Given the description of an element on the screen output the (x, y) to click on. 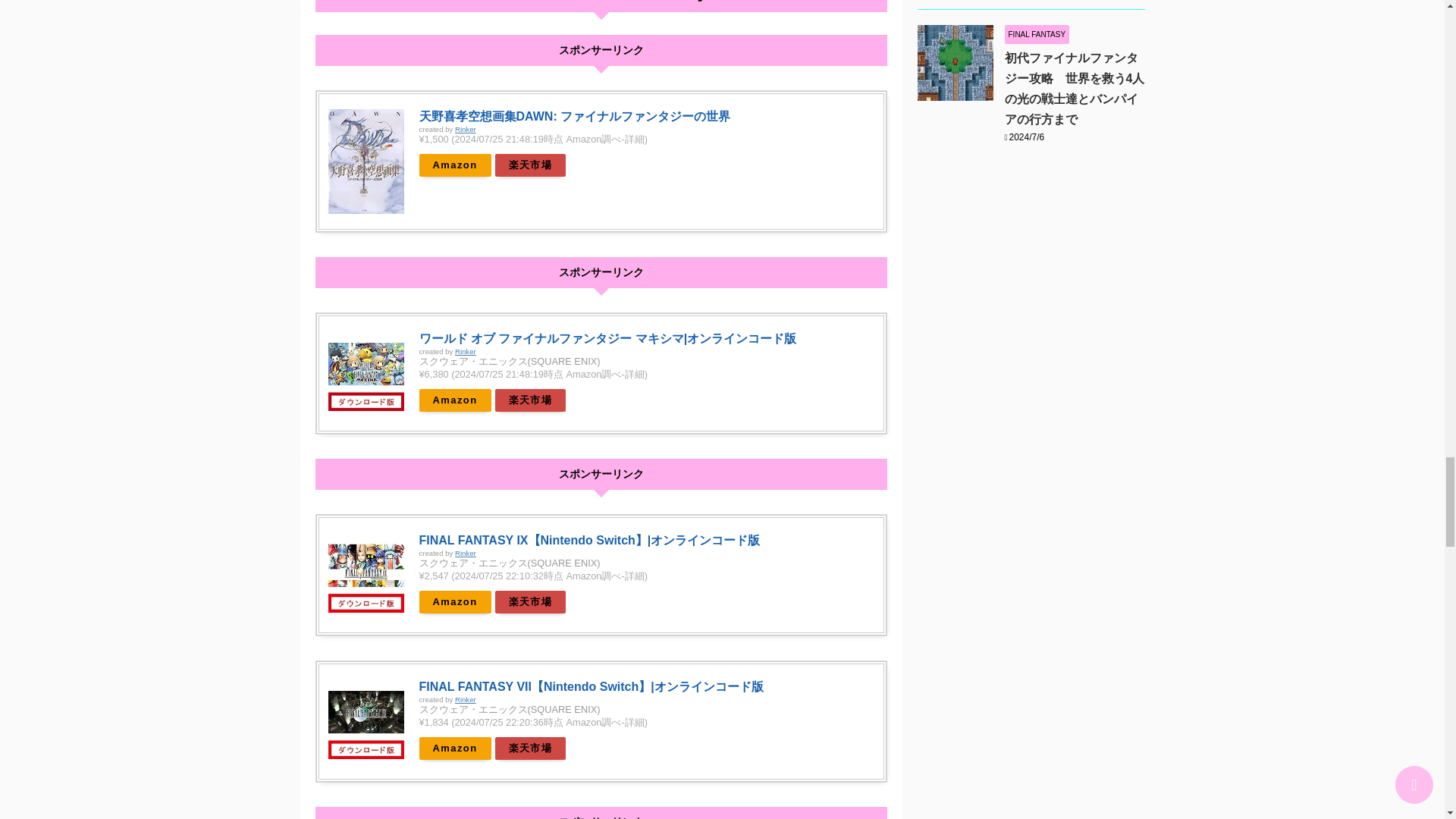
Rinker (465, 351)
Rinker (465, 552)
Amazon (454, 164)
Amazon (454, 400)
Amazon (454, 601)
Rinker (465, 699)
Rinker (465, 129)
Amazon (454, 748)
